Given the description of an element on the screen output the (x, y) to click on. 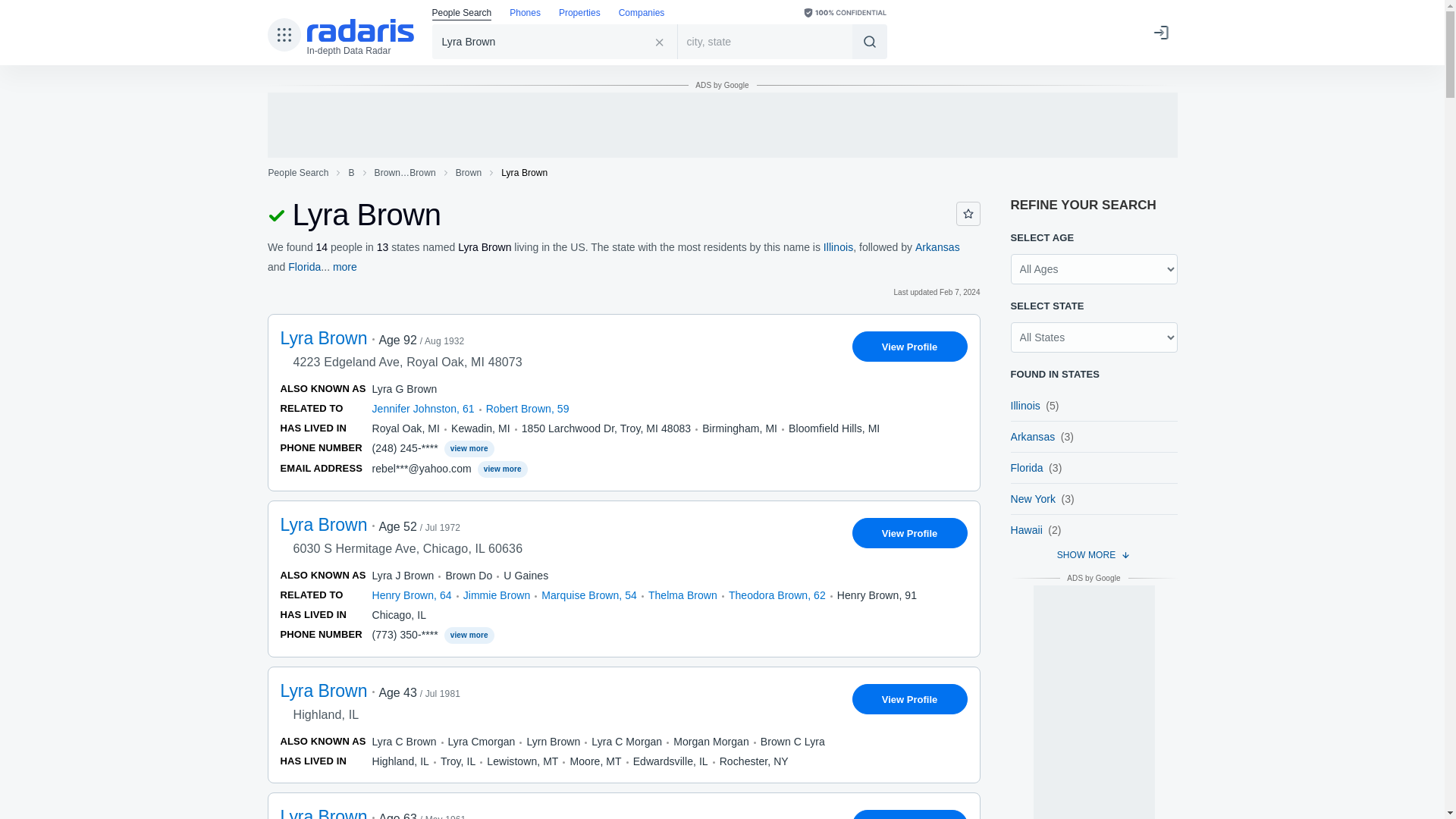
Thelma Brown (682, 594)
Henry Brown, 64 (411, 594)
Jennifer Johnston, 61 (422, 408)
People Search (297, 172)
Companies (641, 13)
Phones (524, 13)
Jimmie Brown (497, 594)
Marquise Brown, 54 (589, 594)
B (350, 172)
Robert Brown, 59 (527, 408)
